Given the description of an element on the screen output the (x, y) to click on. 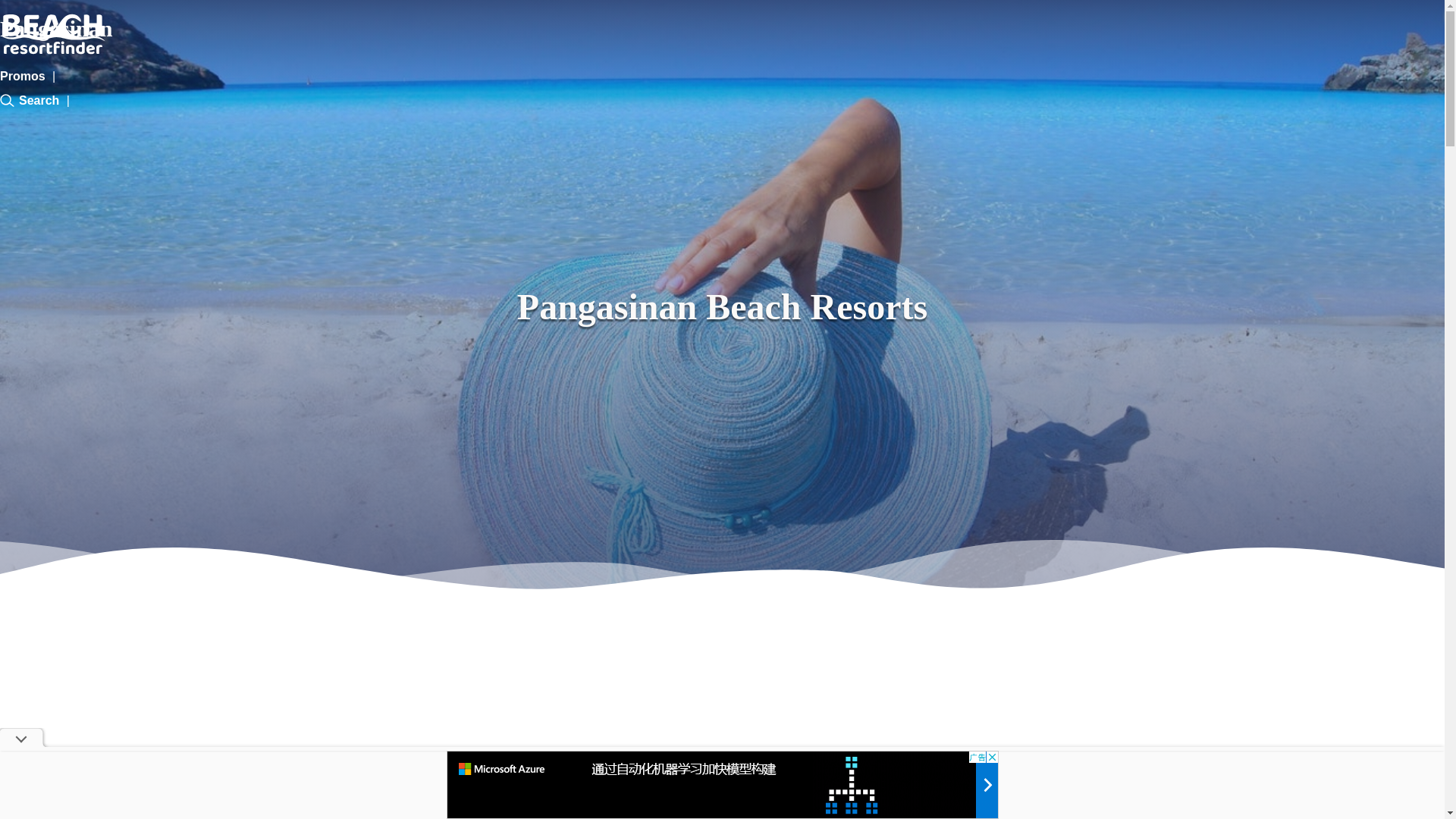
Pangasinan (56, 33)
Promos (22, 75)
Search (29, 100)
Pangasinan (56, 33)
Advertisement (721, 785)
